Given the description of an element on the screen output the (x, y) to click on. 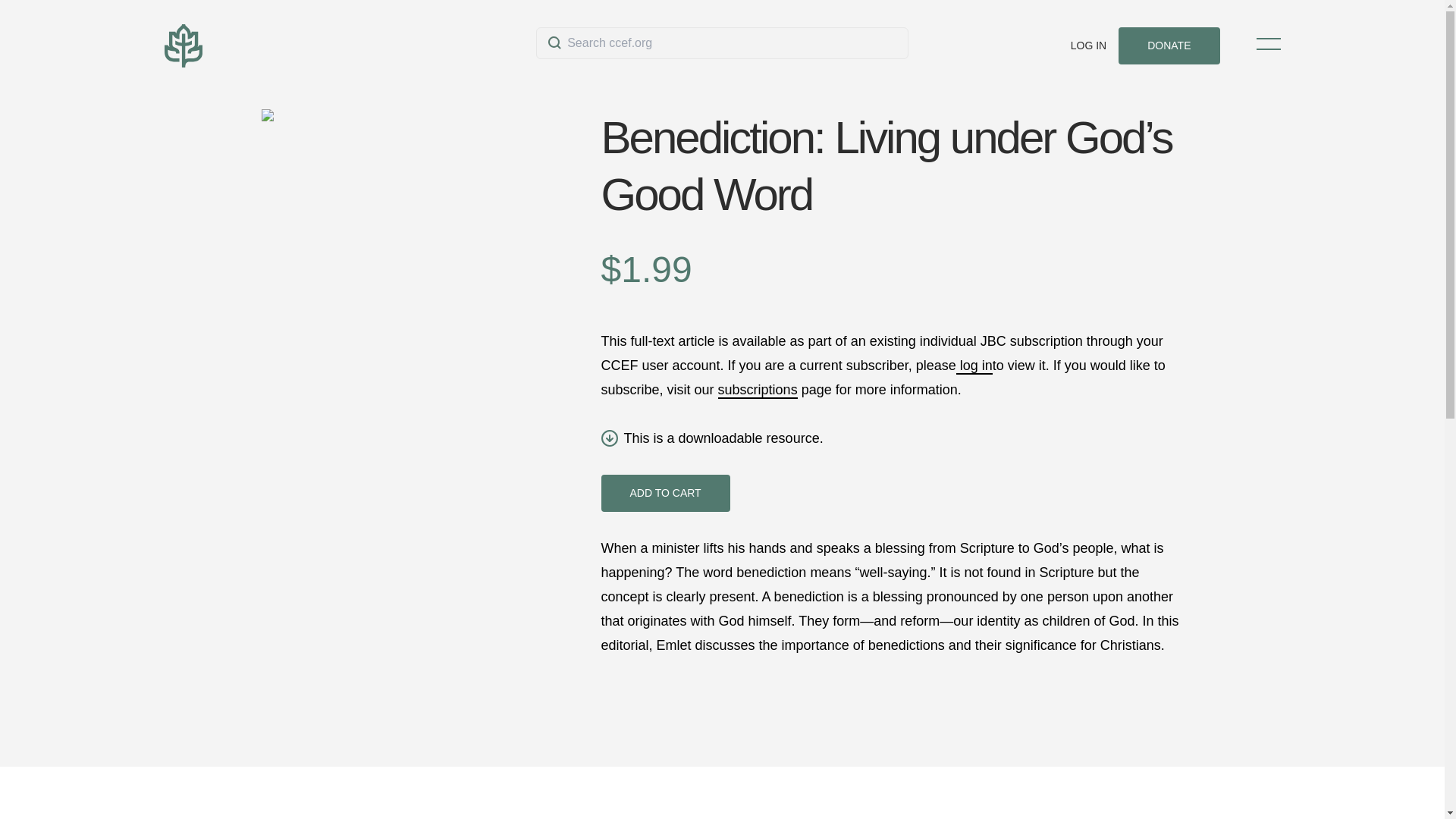
subscriptions (757, 390)
ADD TO CART (664, 493)
DONATE (1169, 45)
log in (974, 365)
CCEF Home Link (349, 45)
LOG IN (1088, 45)
